Given the description of an element on the screen output the (x, y) to click on. 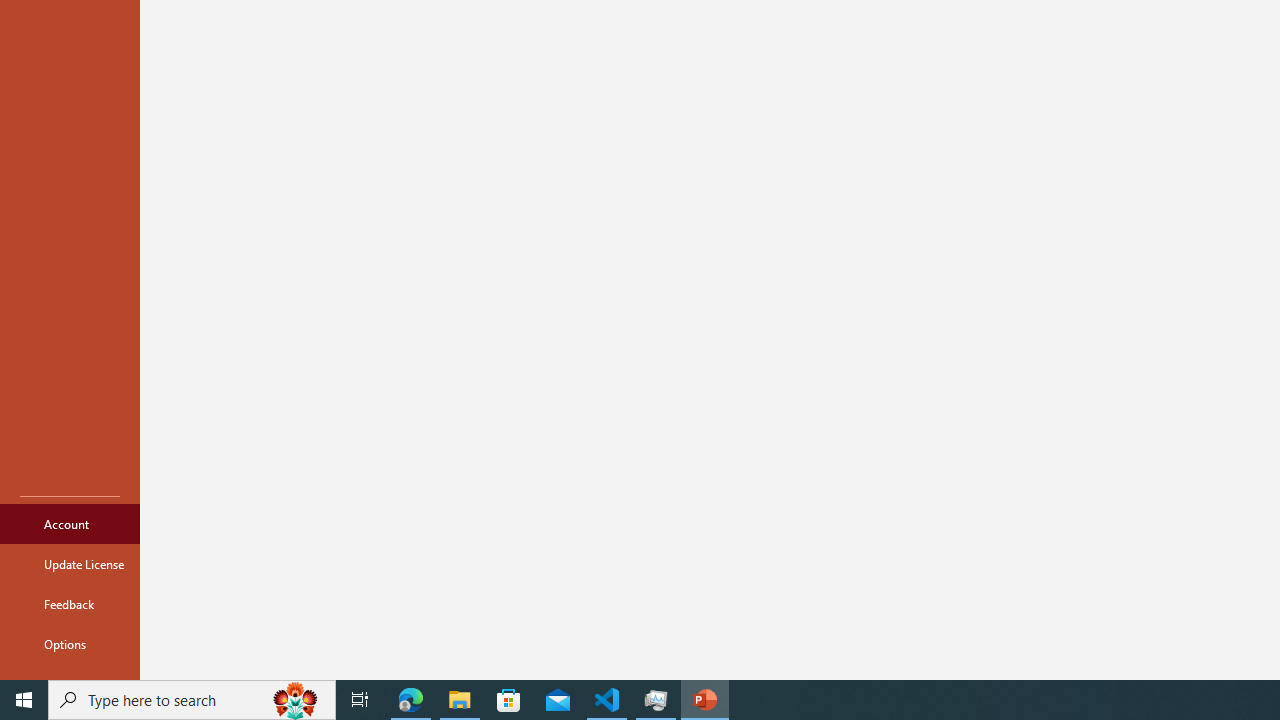
Update License (69, 563)
Type here to search (191, 699)
Task View (359, 699)
Task Manager - 1 running window (656, 699)
Feedback (69, 603)
Microsoft Edge - 1 running window (411, 699)
Account (69, 523)
PowerPoint - 1 running window (704, 699)
Options (69, 643)
Visual Studio Code - 1 running window (607, 699)
Search highlights icon opens search home window (295, 699)
File Explorer - 1 running window (460, 699)
Microsoft Store (509, 699)
